Given the description of an element on the screen output the (x, y) to click on. 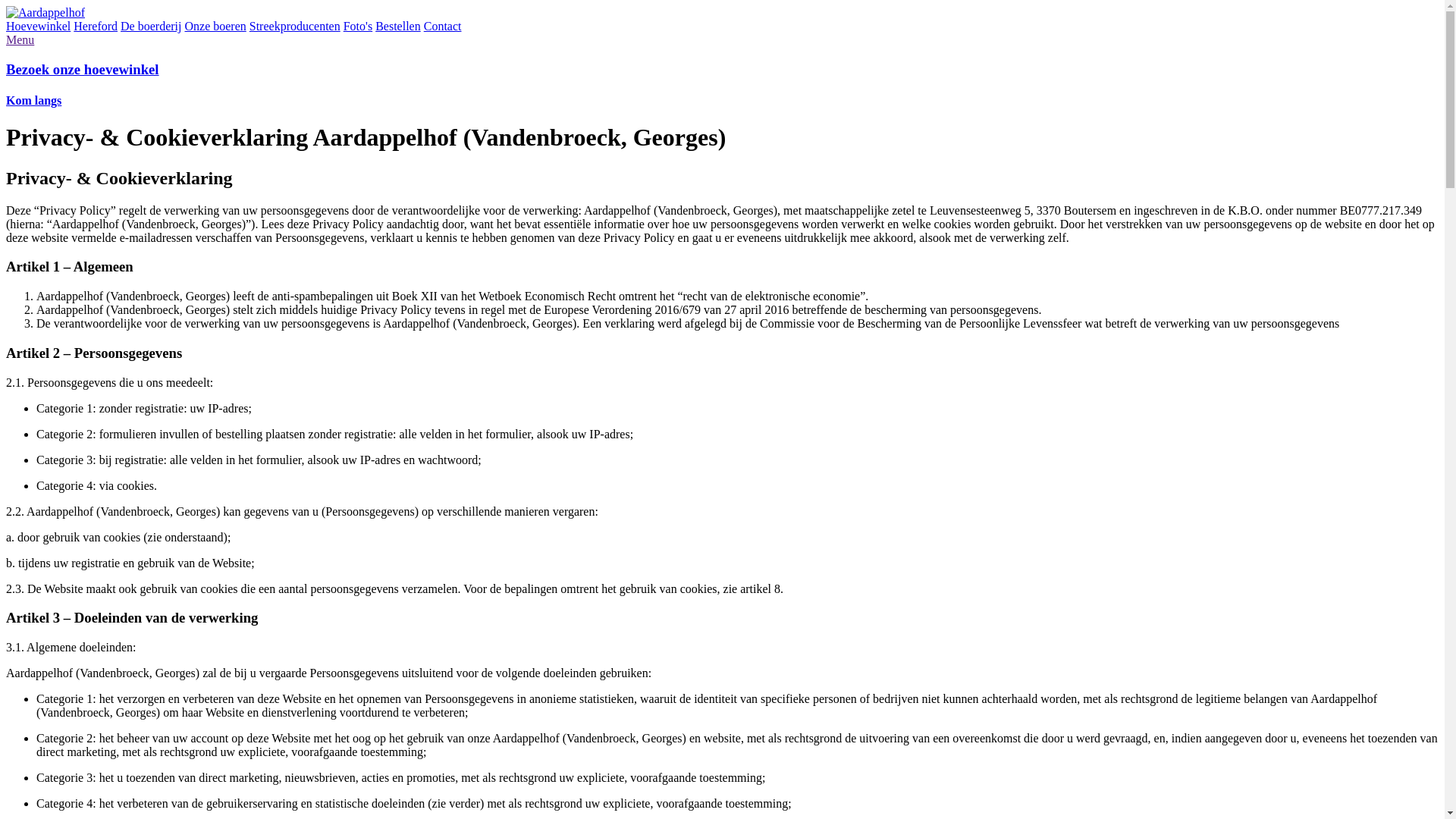
Bezoek onze hoevewinkel
Kom langs Element type: text (722, 84)
Hereford Element type: text (95, 25)
Bestellen Element type: text (397, 25)
Streekproducenten Element type: text (294, 25)
Onze boeren Element type: text (214, 25)
Foto's Element type: text (357, 25)
Hoevewinkel Element type: text (38, 25)
Aardappelhof Element type: hover (45, 12)
De boerderij Element type: text (150, 25)
Menu Element type: text (20, 39)
Contact Element type: text (442, 25)
